Given the description of an element on the screen output the (x, y) to click on. 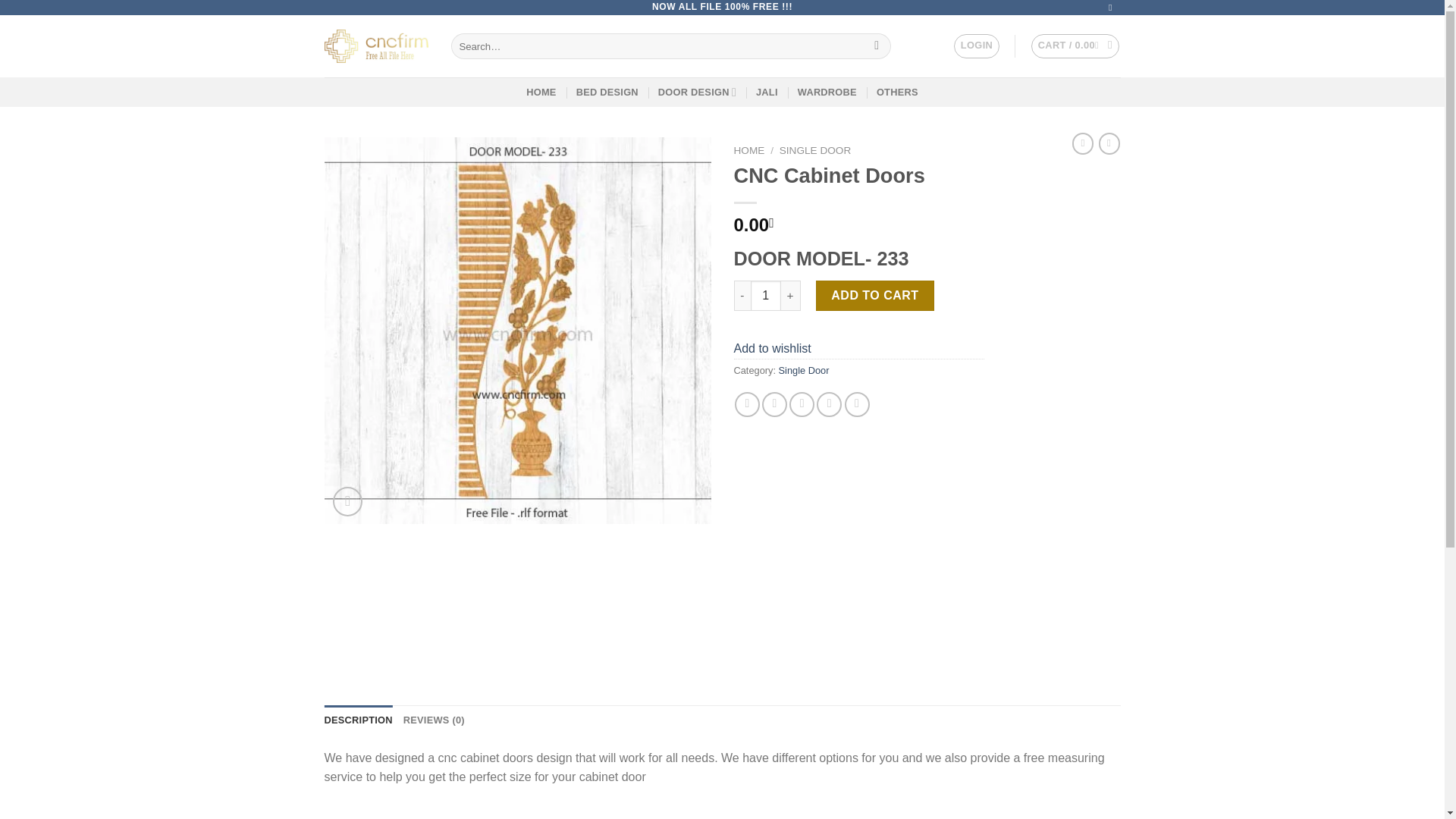
cnc firm - Free All File (376, 46)
Single Door (803, 369)
Search (876, 45)
BED DESIGN (607, 91)
1 (765, 295)
ADD TO CART (874, 295)
Cart (1074, 46)
Zoom (347, 501)
Email to a Friend (801, 404)
WARDROBE (827, 91)
